Given the description of an element on the screen output the (x, y) to click on. 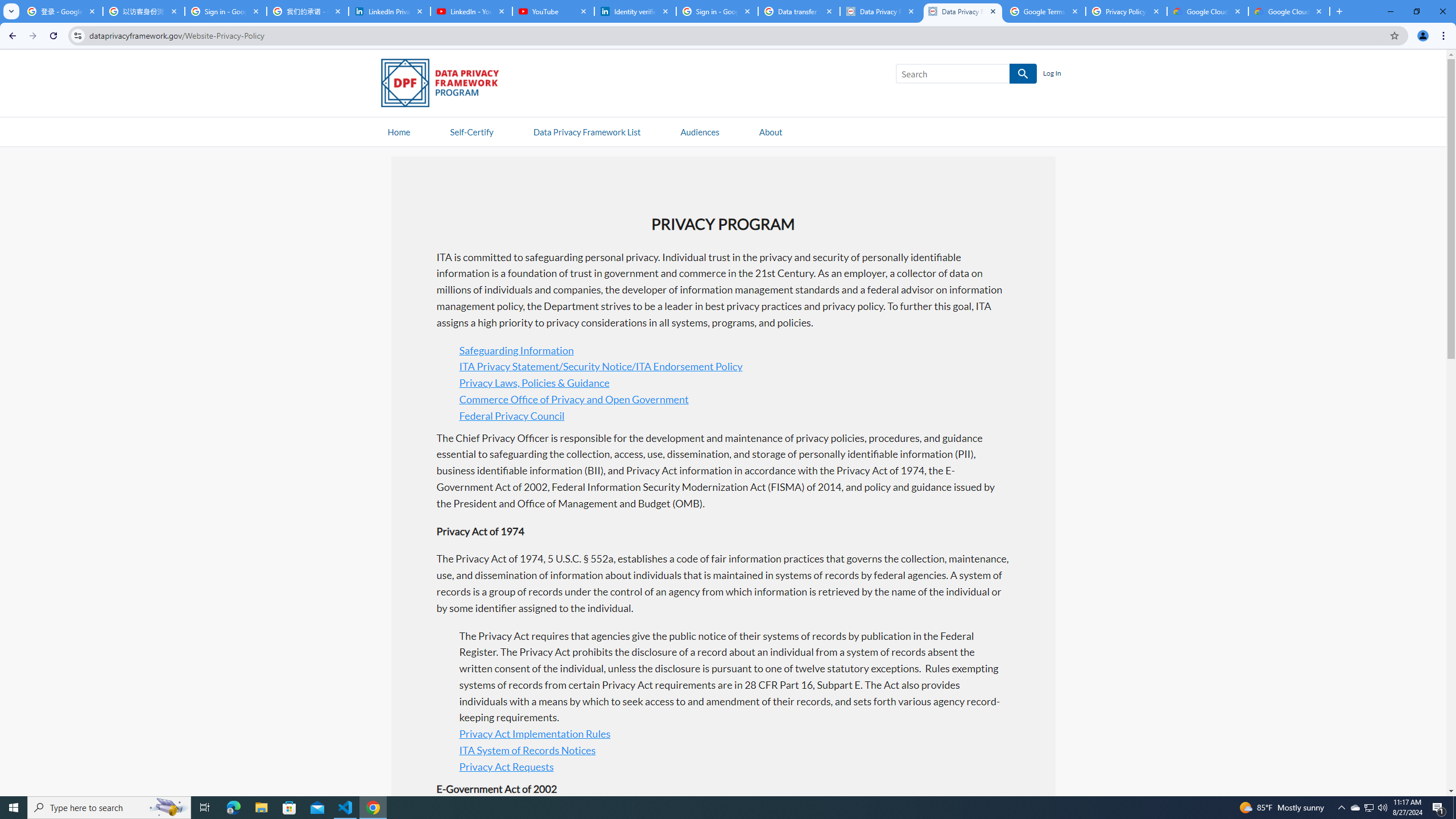
Home (398, 131)
Sign in - Google Accounts (225, 11)
LinkedIn Privacy Policy (389, 11)
Data Privacy Framework Logo - Link to Homepage (445, 85)
Search SEARCH (965, 75)
Federal Privacy Council (511, 414)
Audiences (699, 131)
SEARCH (1022, 73)
Privacy Act Implementation Rules (534, 733)
